Given the description of an element on the screen output the (x, y) to click on. 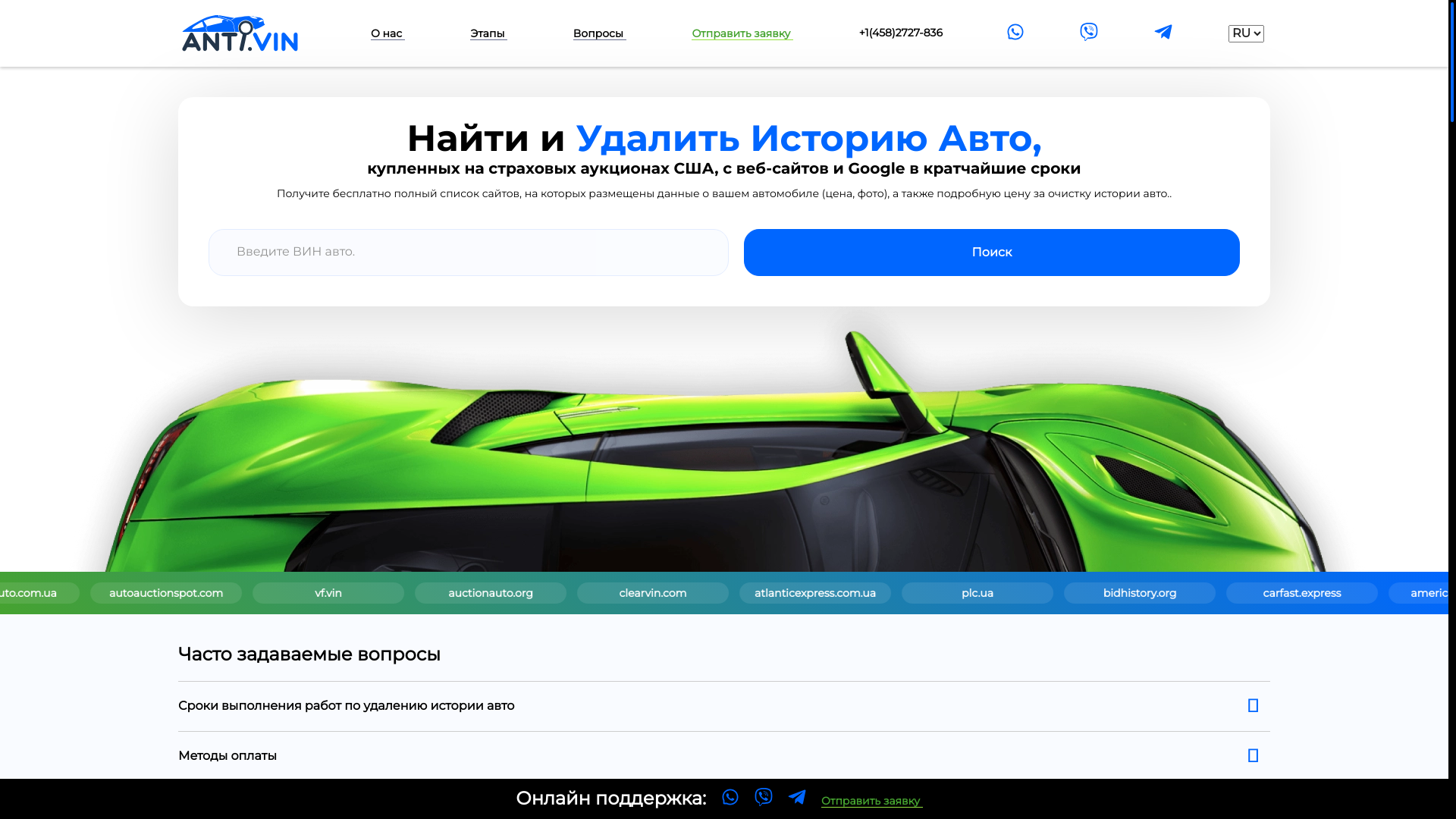
auctionauto.com.ua Element type: text (409, 592)
stat.vin Element type: text (248, 592)
+1(458)2727-836 Element type: text (900, 32)
autoauctionspot.com Element type: text (567, 592)
clearvin.com Element type: text (1049, 592)
vf.vin Element type: text (728, 592)
auctionauto.org Element type: text (889, 592)
plc.ua Element type: text (1370, 592)
bidstat.info Element type: text (88, 592)
atlanticexpress.com.ua Element type: text (1209, 592)
